Given the description of an element on the screen output the (x, y) to click on. 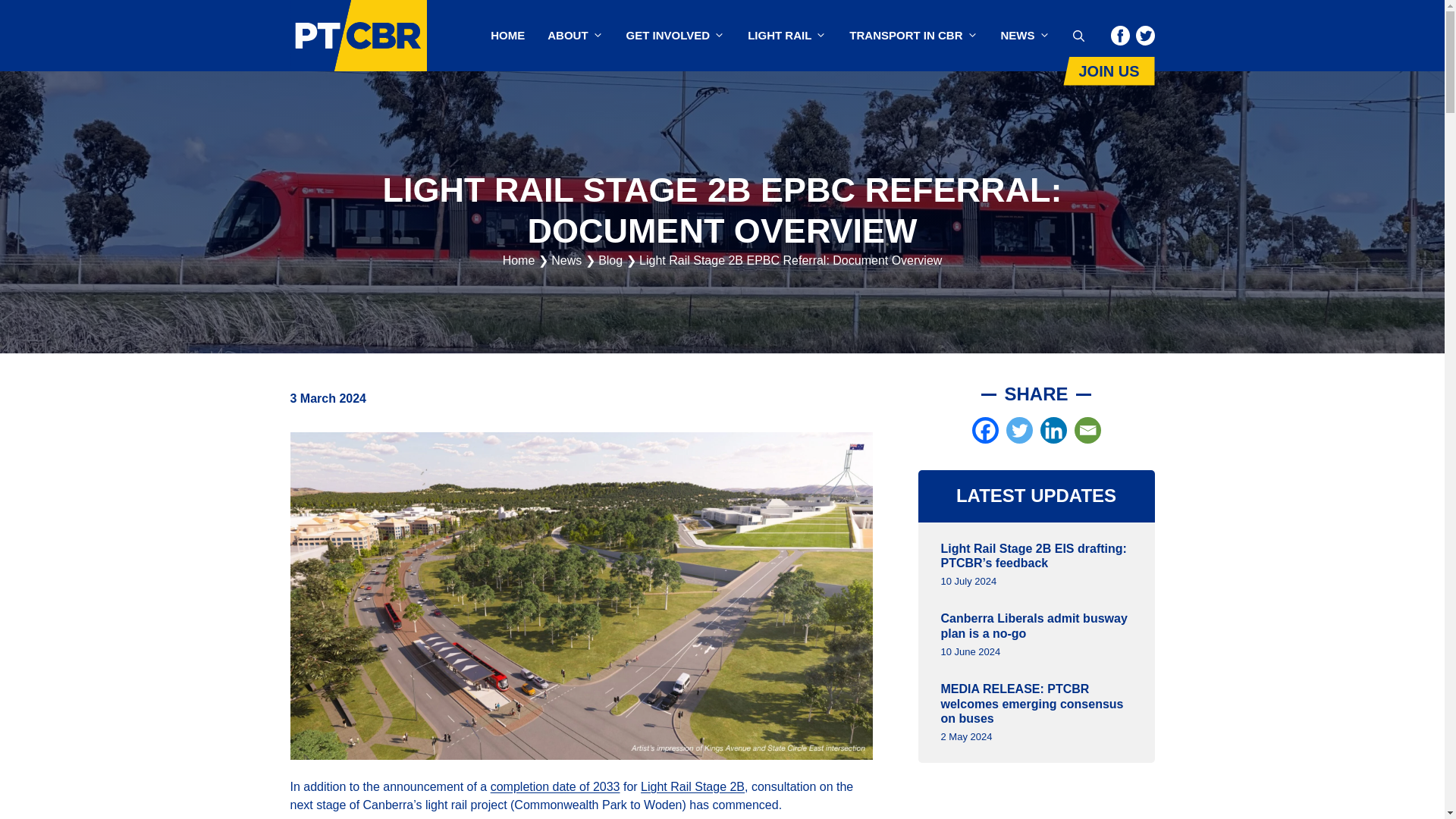
GET INVOLVED (675, 35)
JOIN US (1108, 70)
NEWS (1024, 35)
LIGHT RAIL (787, 35)
TRANSPORT IN CBR (913, 35)
ABOUT (574, 35)
Twitter (1019, 429)
Linkedin (1054, 429)
Facebook (985, 429)
Email (1087, 429)
